Given the description of an element on the screen output the (x, y) to click on. 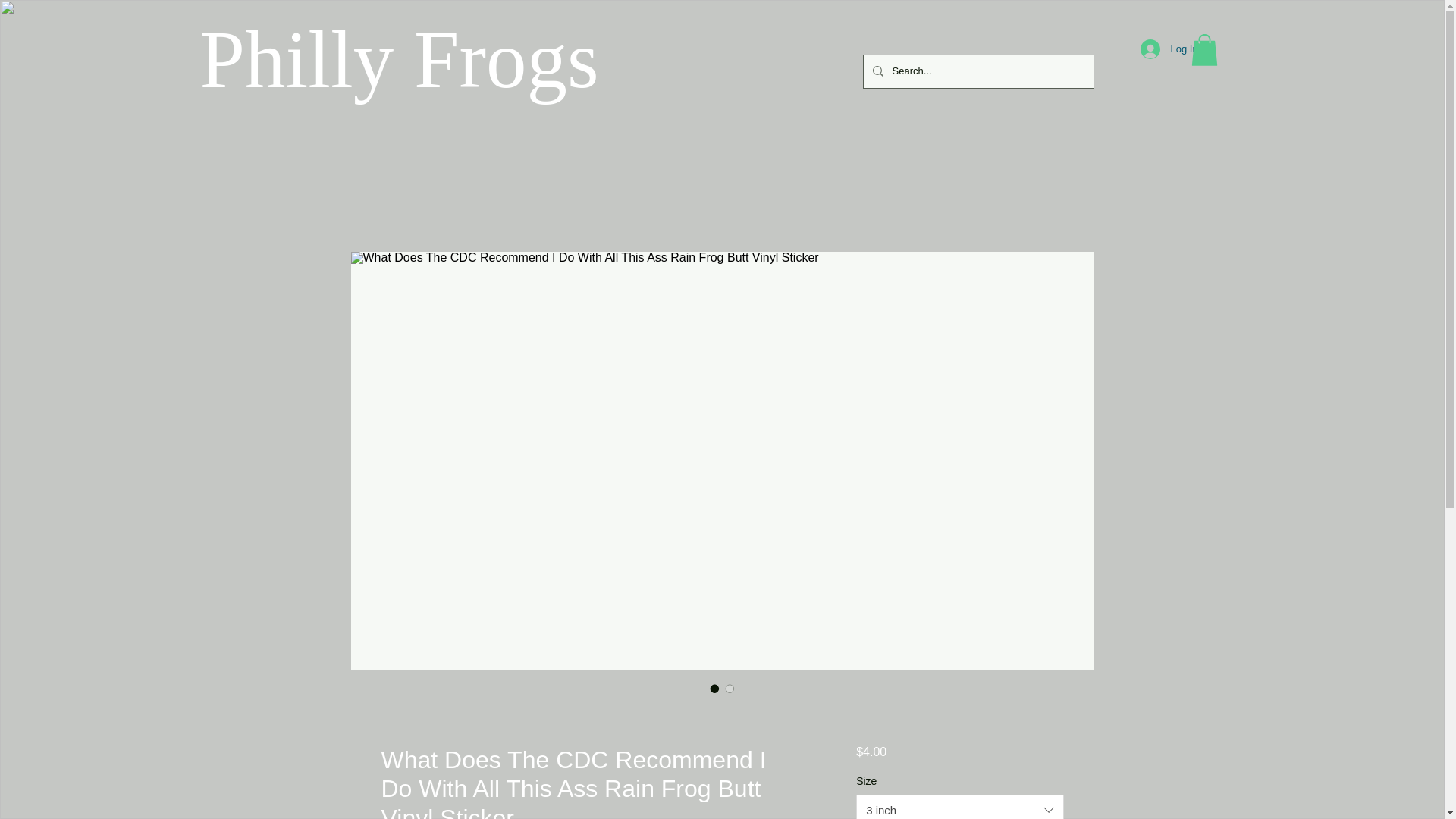
Log In (1160, 49)
Philly Frogs (399, 58)
3 inch (959, 806)
